Given the description of an element on the screen output the (x, y) to click on. 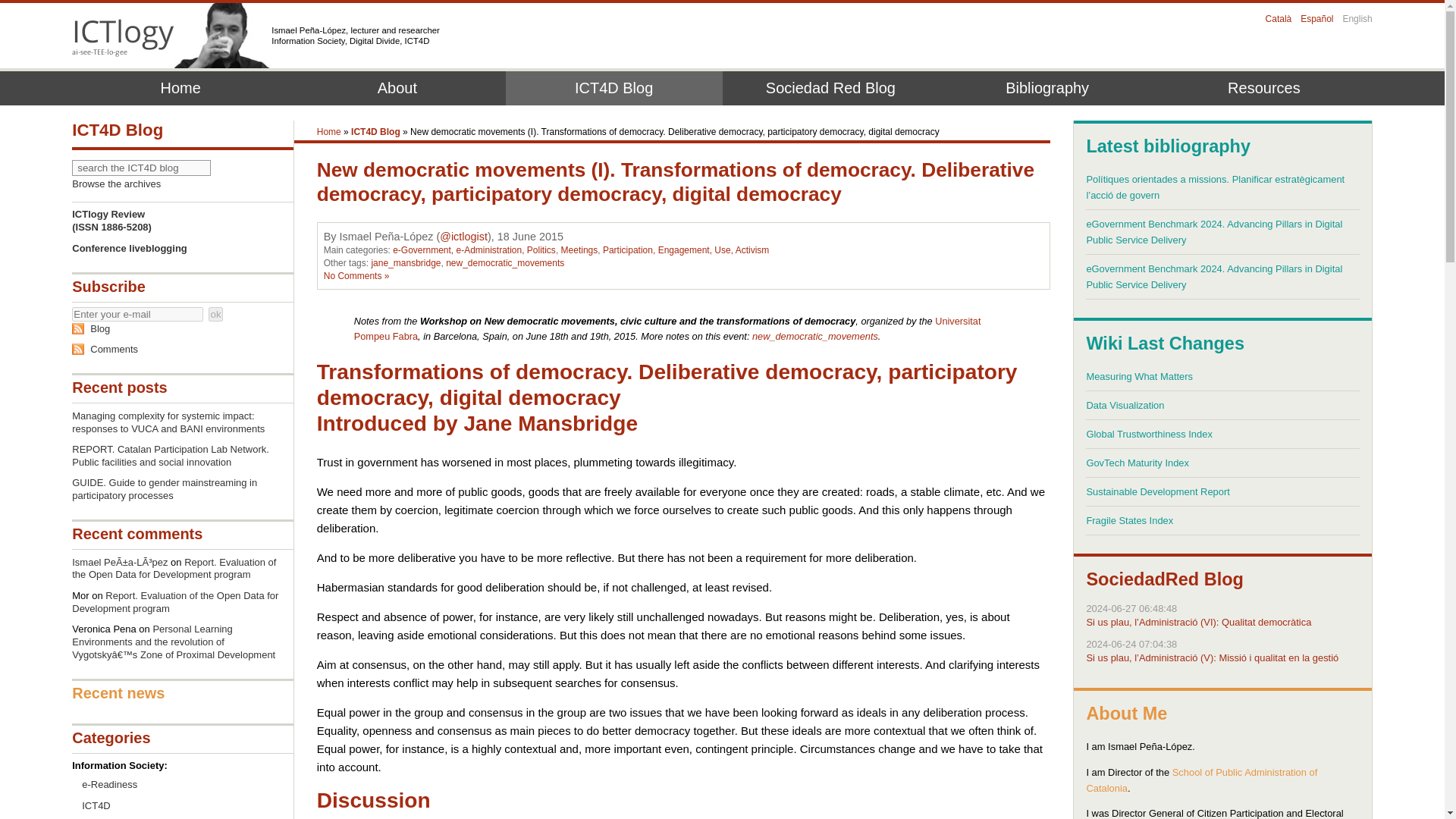
Bibliography (1047, 88)
About (396, 88)
ICT4D Blog (375, 131)
English (1356, 18)
Resources (1264, 88)
ICTlogy (122, 37)
Universitat Pompeu Fabra (667, 328)
Sociedad Red Blog (830, 88)
ICT4D Blog (613, 88)
e-Government, e-Administration, Politics (474, 249)
Home (328, 131)
Participation, Engagement, Use, Activism (685, 249)
Meetings (579, 249)
ok (215, 314)
search the ICT4D blog (141, 167)
